Given the description of an element on the screen output the (x, y) to click on. 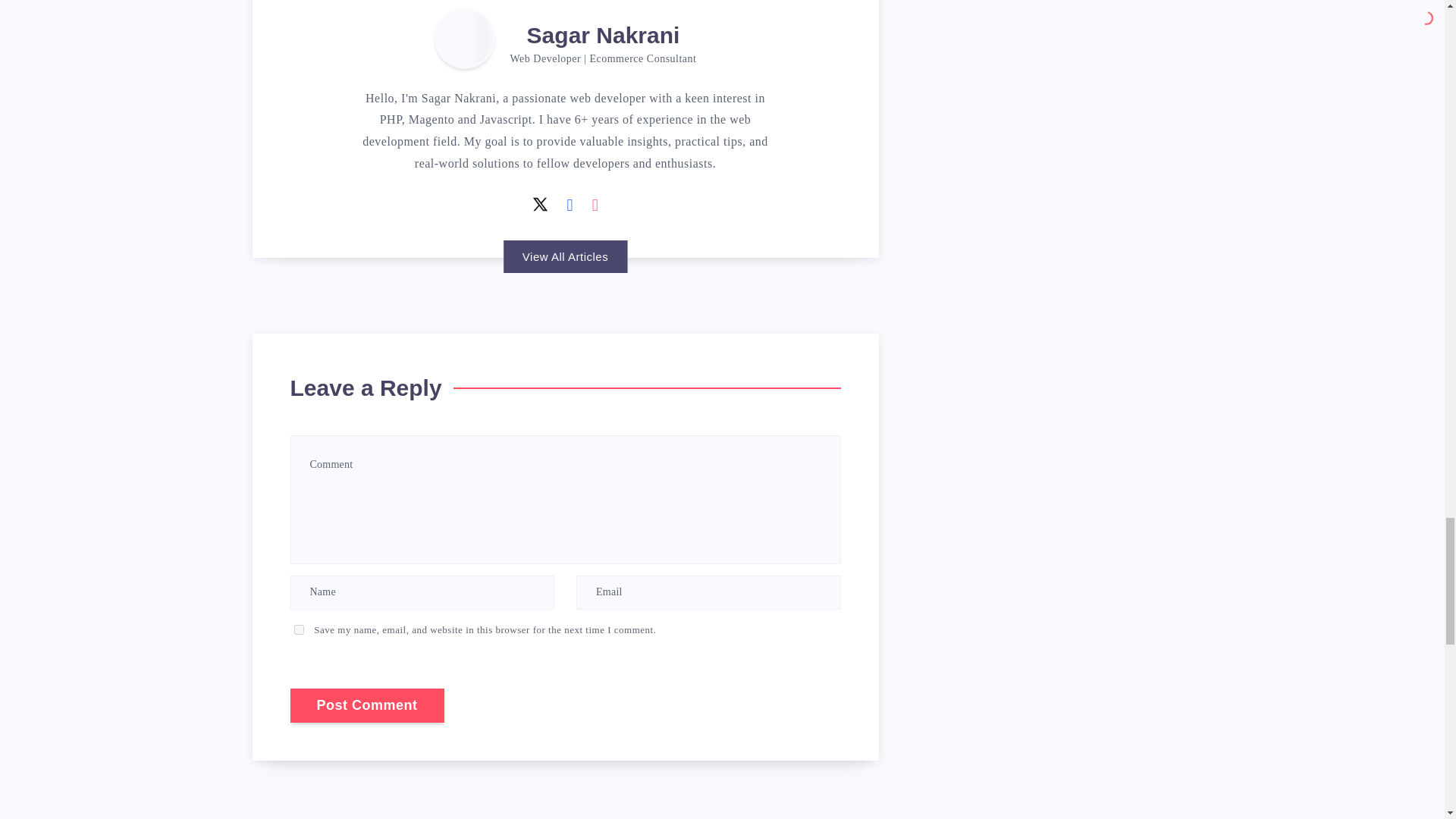
yes (299, 629)
View All Articles (565, 256)
Sagar Nakrani (603, 36)
Post Comment (366, 705)
Post Comment (366, 705)
Author: Sagar Nakrani (464, 38)
